Given the description of an element on the screen output the (x, y) to click on. 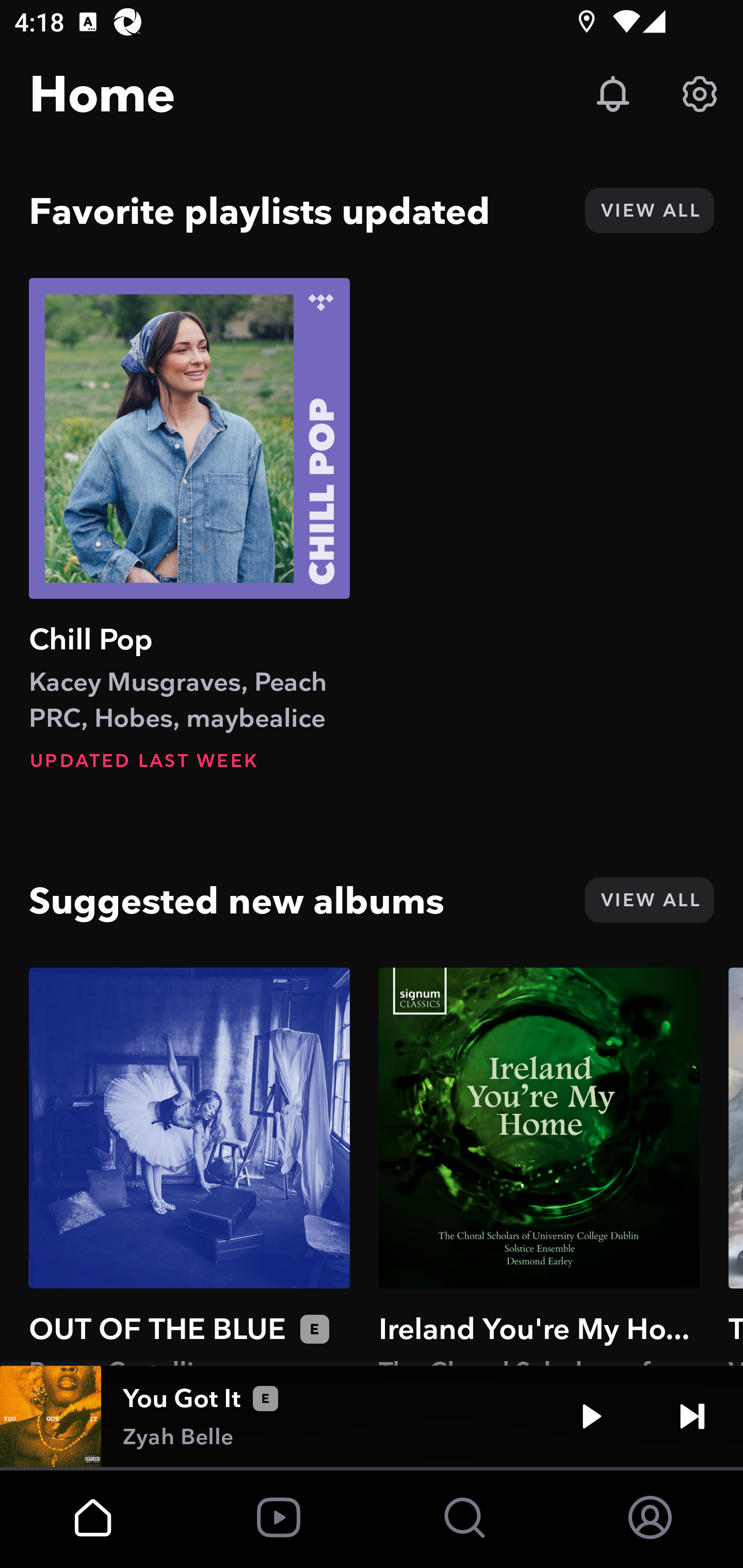
Updates (612, 93)
Settings (699, 93)
VIEW ALL (649, 210)
VIEW ALL (649, 899)
OUT OF THE BLUE Brynn Cartelli (188, 1166)
You Got It    Zyah Belle Play (371, 1416)
Play (590, 1416)
